Given the description of an element on the screen output the (x, y) to click on. 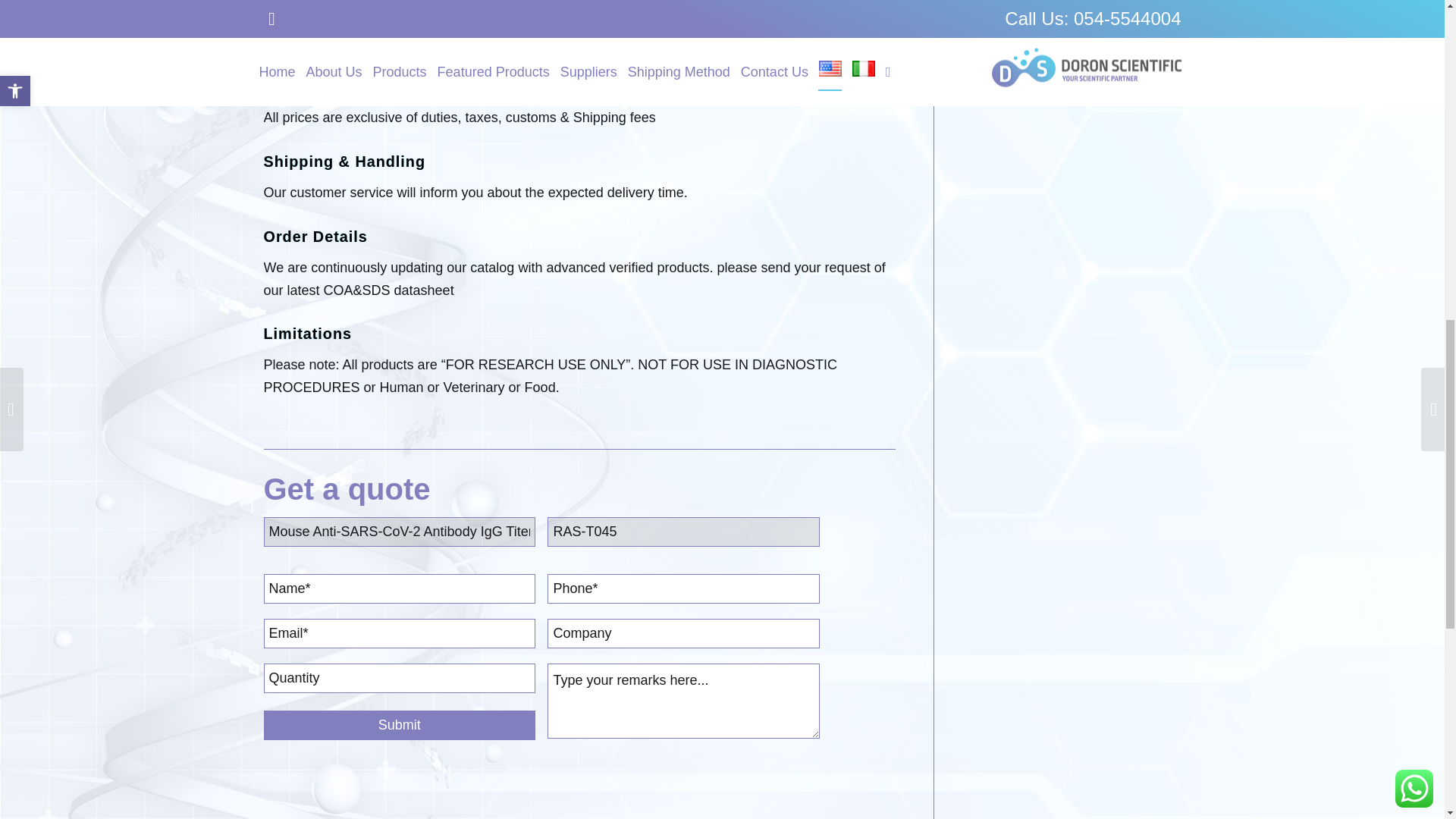
RAS-T045 (682, 531)
Submit (399, 725)
